Given the description of an element on the screen output the (x, y) to click on. 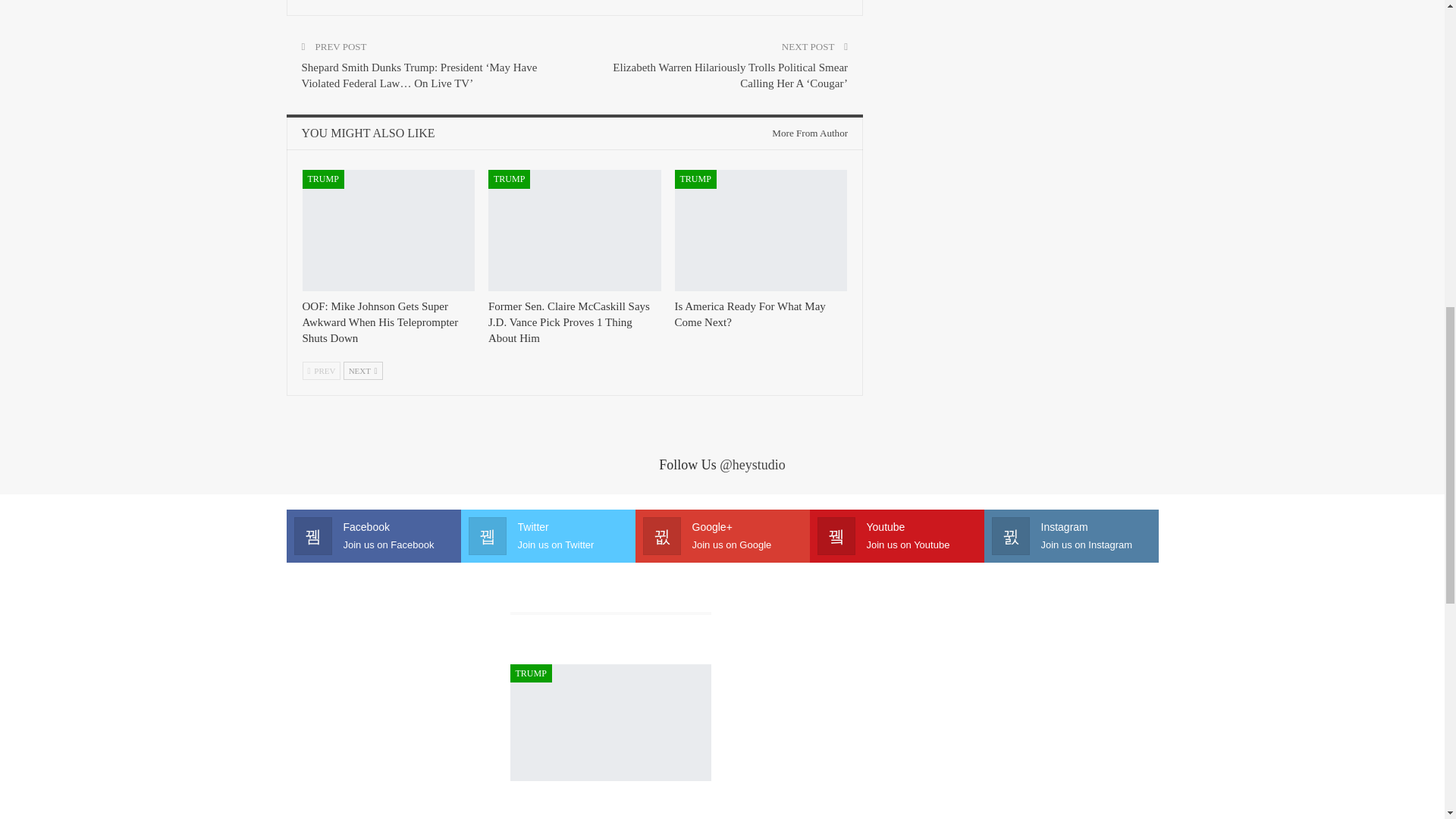
Is America Ready For What May Come Next? (761, 229)
Is America Ready For What May Come Next? (750, 314)
Next (362, 370)
Previous (320, 370)
